Given the description of an element on the screen output the (x, y) to click on. 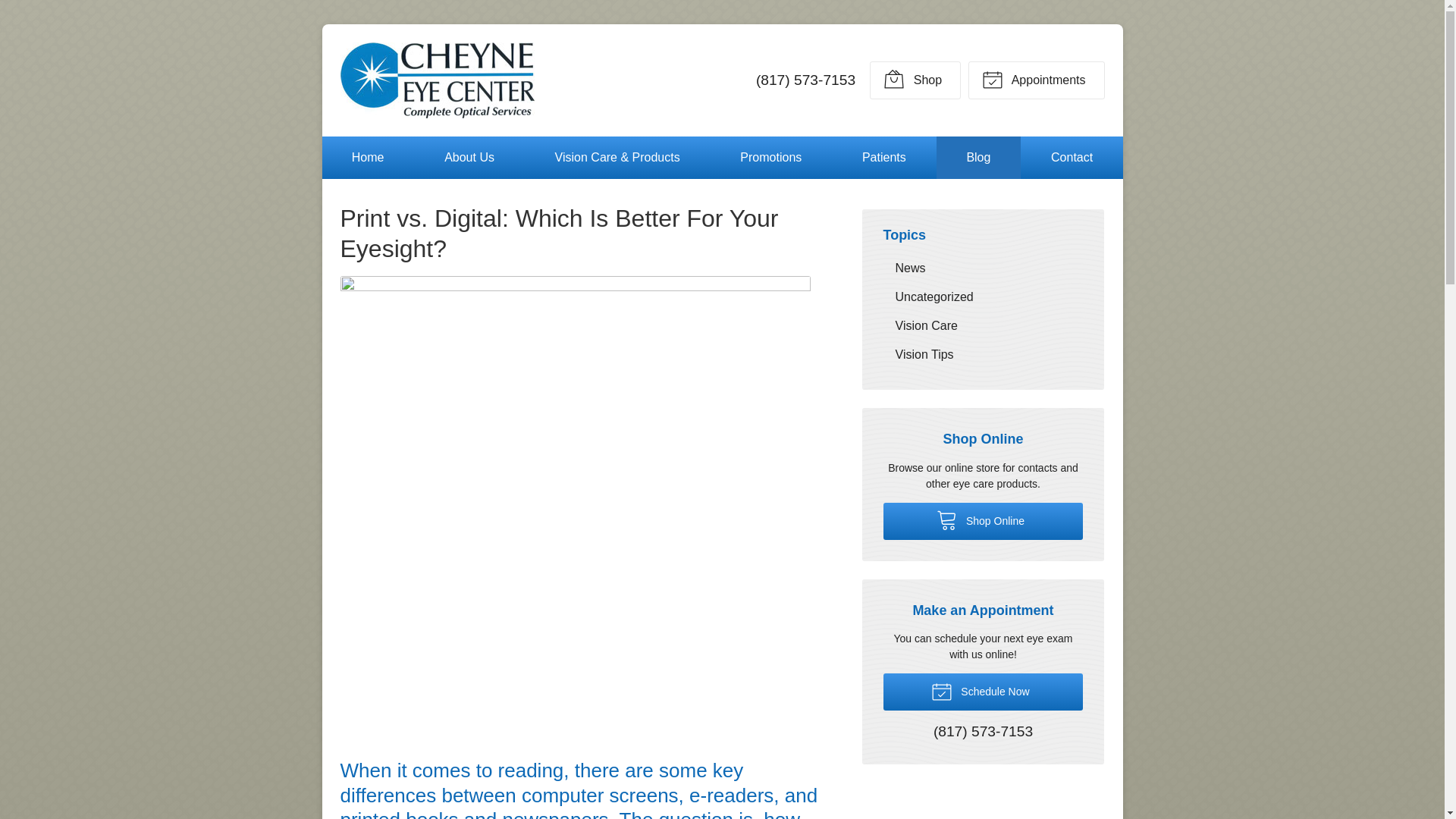
Shop Online (982, 520)
Shop (914, 80)
Call practice (805, 79)
Shop Online (982, 520)
Patients (884, 157)
Vision Care (982, 325)
News (982, 267)
Schedule Now (982, 691)
Home (367, 157)
Request Appointment (1035, 80)
Appointments (1035, 80)
Shop Online (914, 80)
Promotions (770, 157)
Blog (978, 157)
Call practice (982, 732)
